Given the description of an element on the screen output the (x, y) to click on. 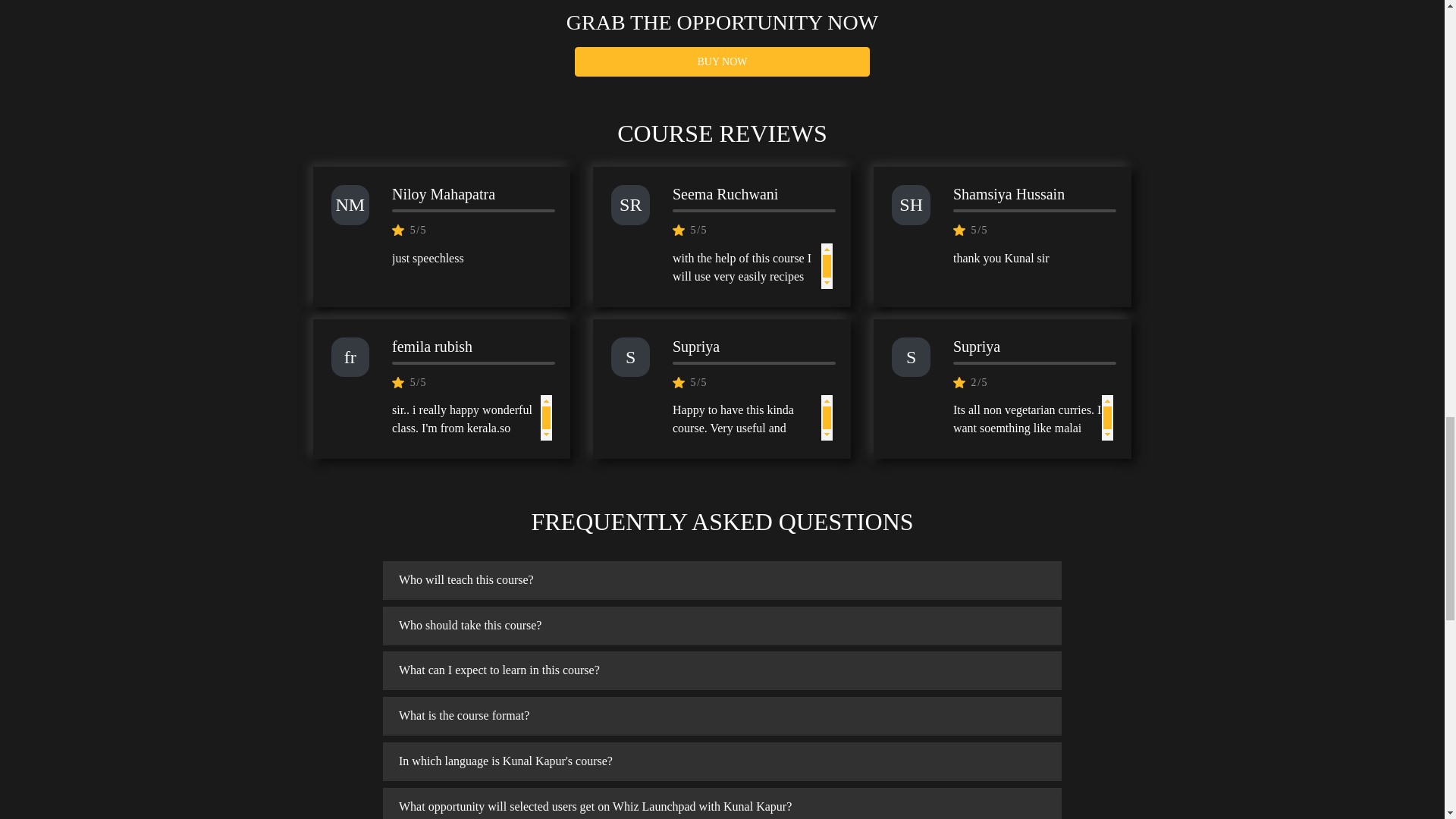
just speechless (471, 258)
just speechless (471, 266)
thank you Kunal sir (1033, 266)
BUY NOW (722, 61)
thank you Kunal sir (1033, 258)
